Given the description of an element on the screen output the (x, y) to click on. 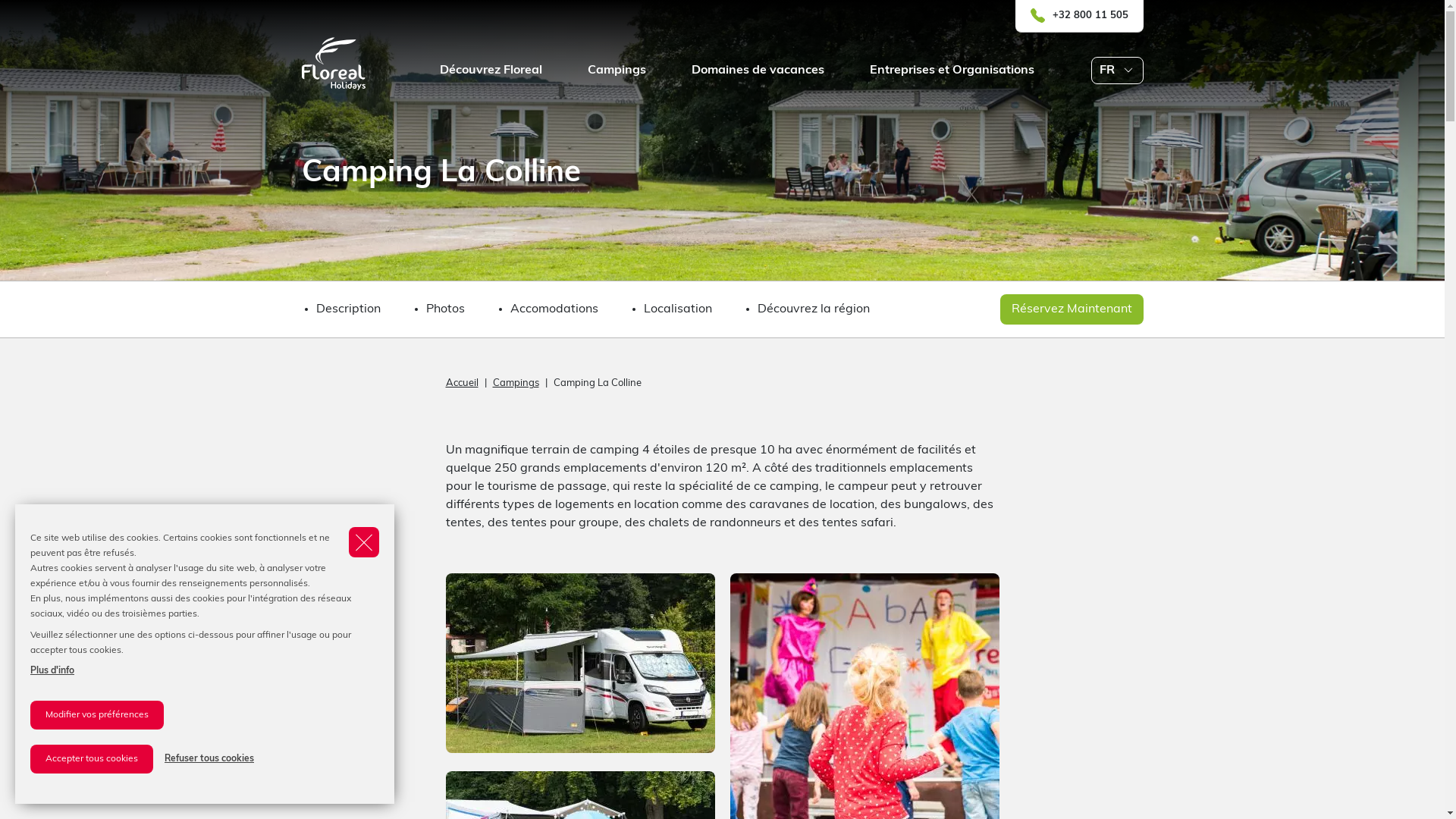
Photos Element type: text (445, 308)
Accomodations Element type: text (553, 308)
Campings Element type: text (638, 69)
Description Element type: text (347, 308)
Refuser tous cookies Element type: text (209, 758)
Campings Element type: text (515, 383)
Localisation Element type: text (677, 308)
Entreprises et Organisations Element type: text (974, 69)
Domaines de vacances Element type: text (780, 69)
Plus d'info Element type: text (52, 670)
Accueil Element type: text (461, 383)
Accepter tous cookies Element type: text (91, 758)
+32 800 11 505 Element type: text (1090, 15)
Passer Au Contenu Principal Element type: text (7, 7)
